Given the description of an element on the screen output the (x, y) to click on. 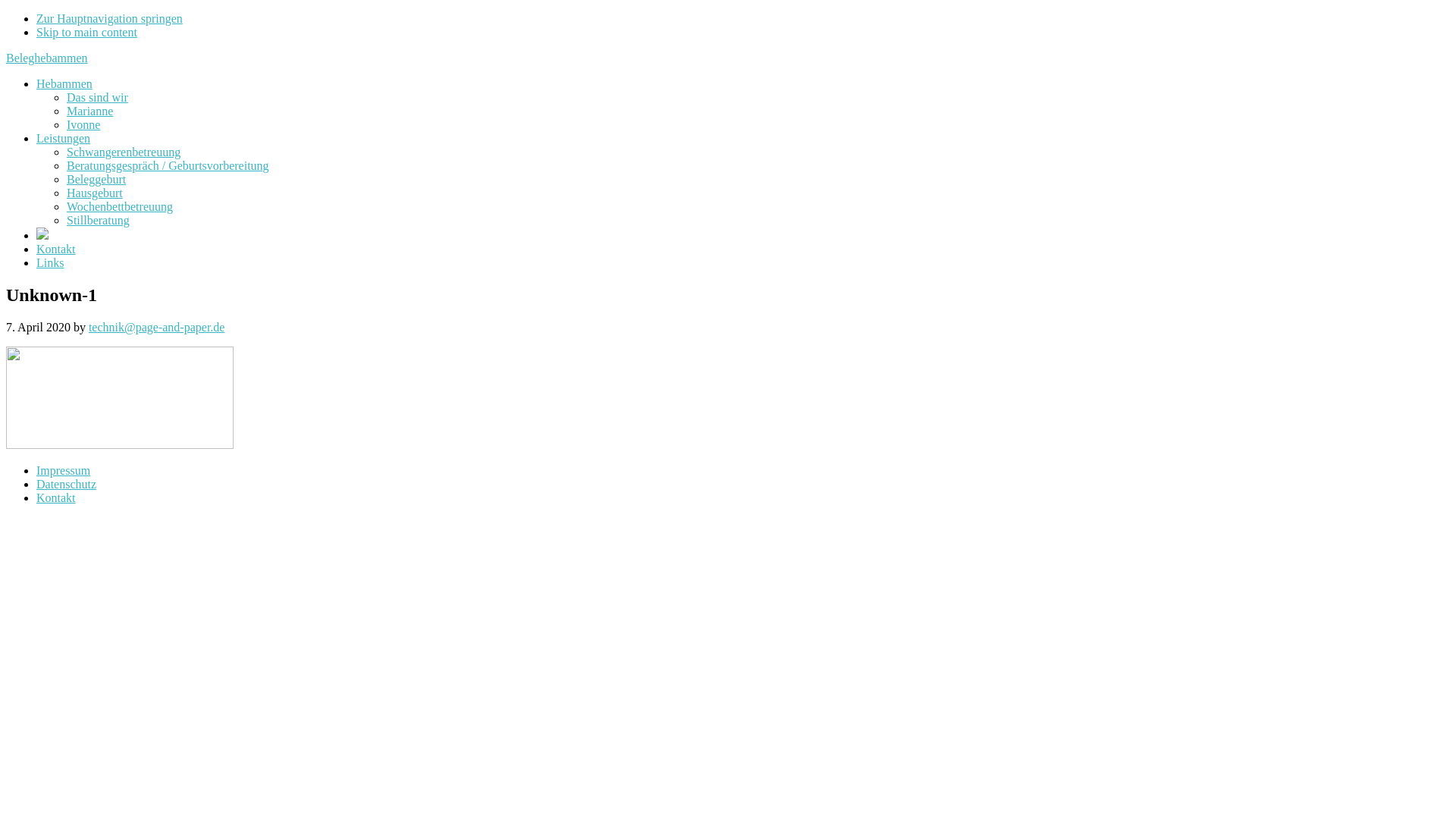
Kontakt Element type: text (55, 248)
Links Element type: text (49, 262)
Marianne Element type: text (89, 110)
technik@page-and-paper.de Element type: text (156, 326)
Beleghebammen Element type: text (46, 57)
Schwangerenbetreuung Element type: text (123, 151)
Leistungen Element type: text (63, 137)
Beleggeburt Element type: text (95, 178)
Stillberatung Element type: text (97, 219)
Skip to main content Element type: text (86, 31)
Datenschutz Element type: text (66, 483)
Kontakt Element type: text (55, 497)
Hebammen Element type: text (64, 83)
Wochenbettbetreuung Element type: text (119, 206)
Ivonne Element type: text (83, 124)
Impressum Element type: text (63, 470)
Hausgeburt Element type: text (94, 192)
Das sind wir Element type: text (97, 97)
Zur Hauptnavigation springen Element type: text (109, 18)
